Given the description of an element on the screen output the (x, y) to click on. 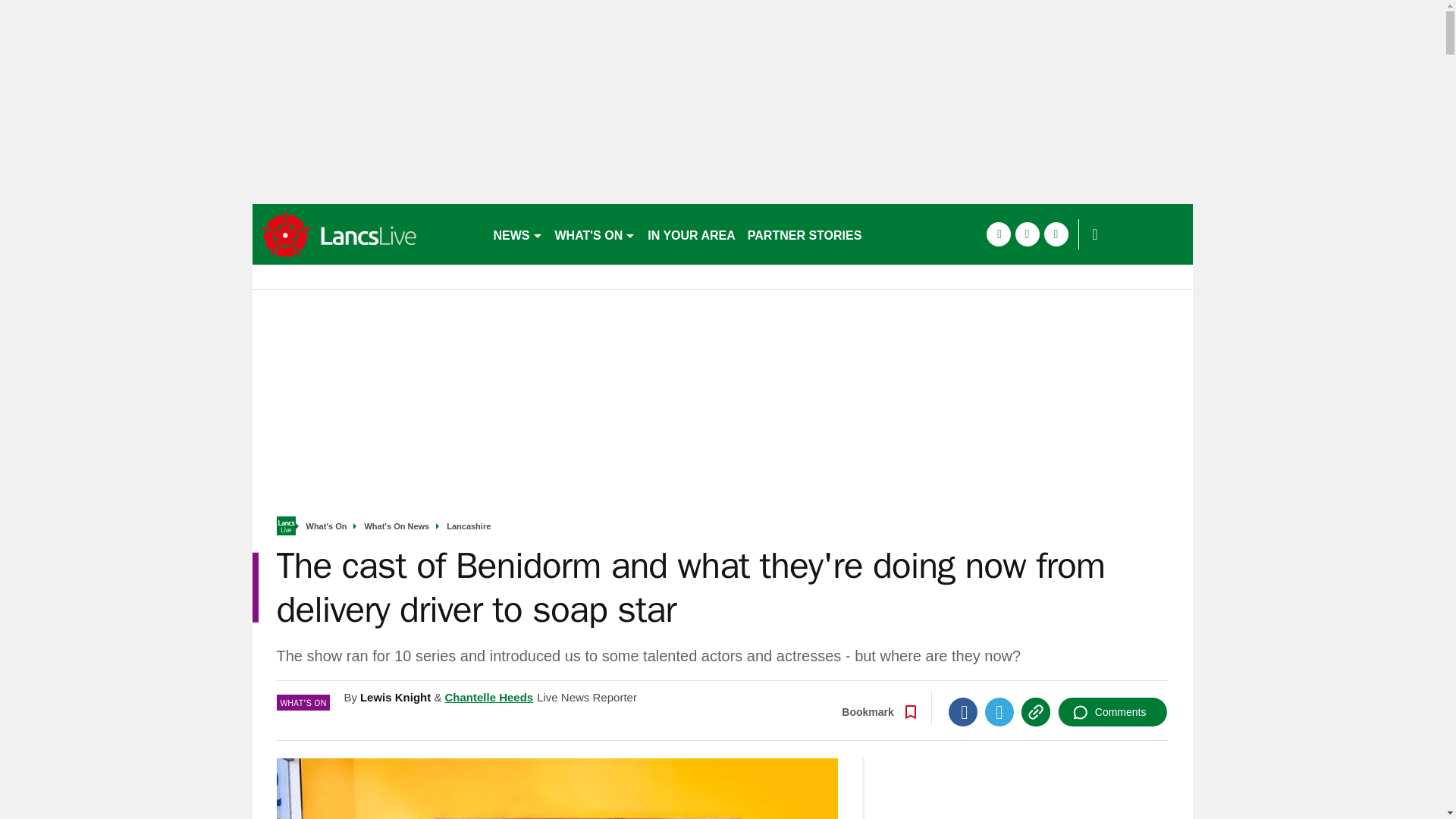
facebook (997, 233)
instagram (1055, 233)
twitter (1026, 233)
Facebook (962, 711)
IN YOUR AREA (691, 233)
accrington (365, 233)
WHAT'S ON (595, 233)
Twitter (999, 711)
Comments (1112, 711)
PARTNER STORIES (804, 233)
